Given the description of an element on the screen output the (x, y) to click on. 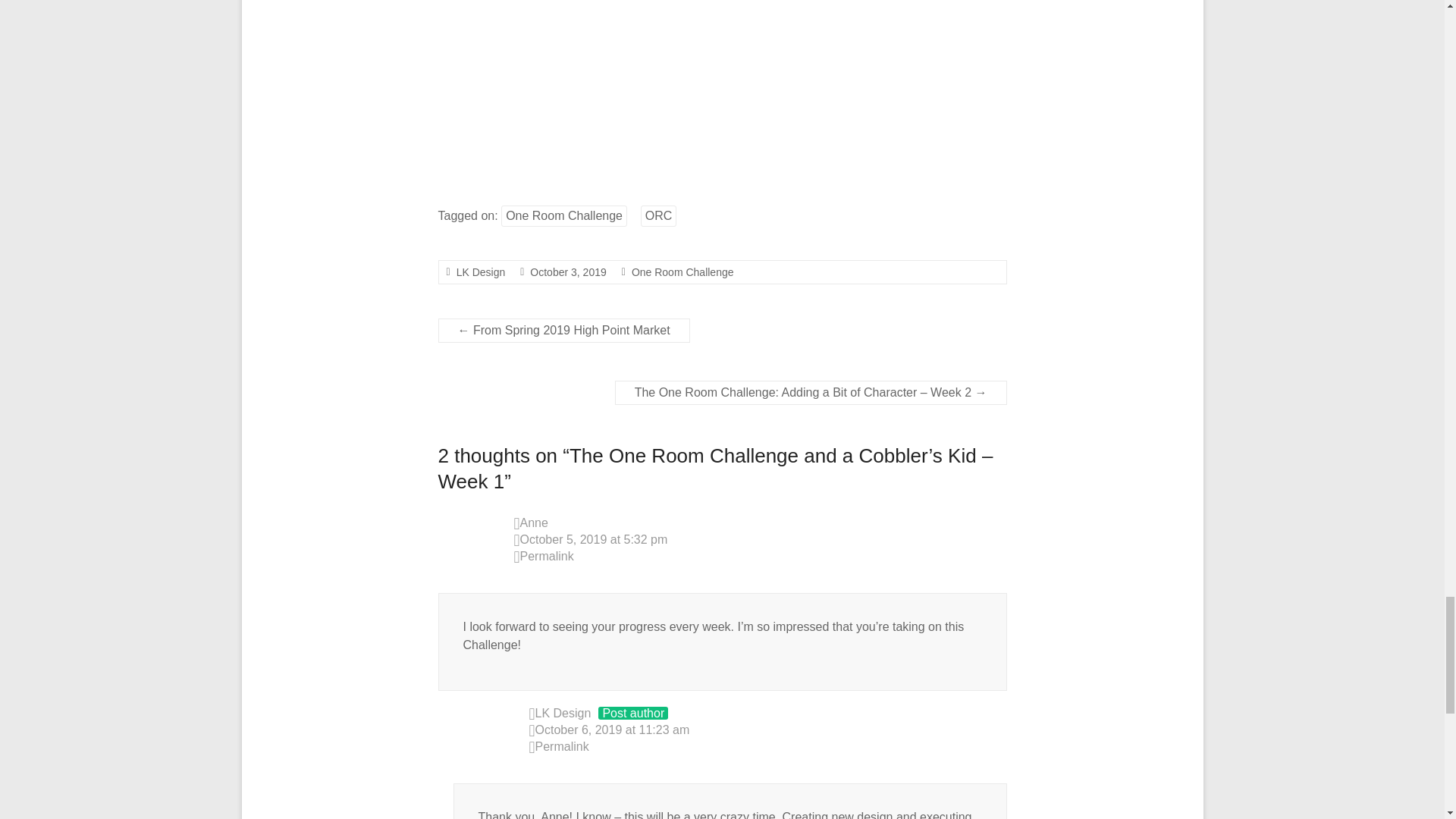
LK Design (481, 272)
One Room Challenge (563, 215)
One Room Challenge (682, 272)
7:41 am (567, 272)
Permalink (768, 747)
Permalink (760, 556)
October 3, 2019 (567, 272)
Anne (533, 522)
ORC (658, 215)
